Given the description of an element on the screen output the (x, y) to click on. 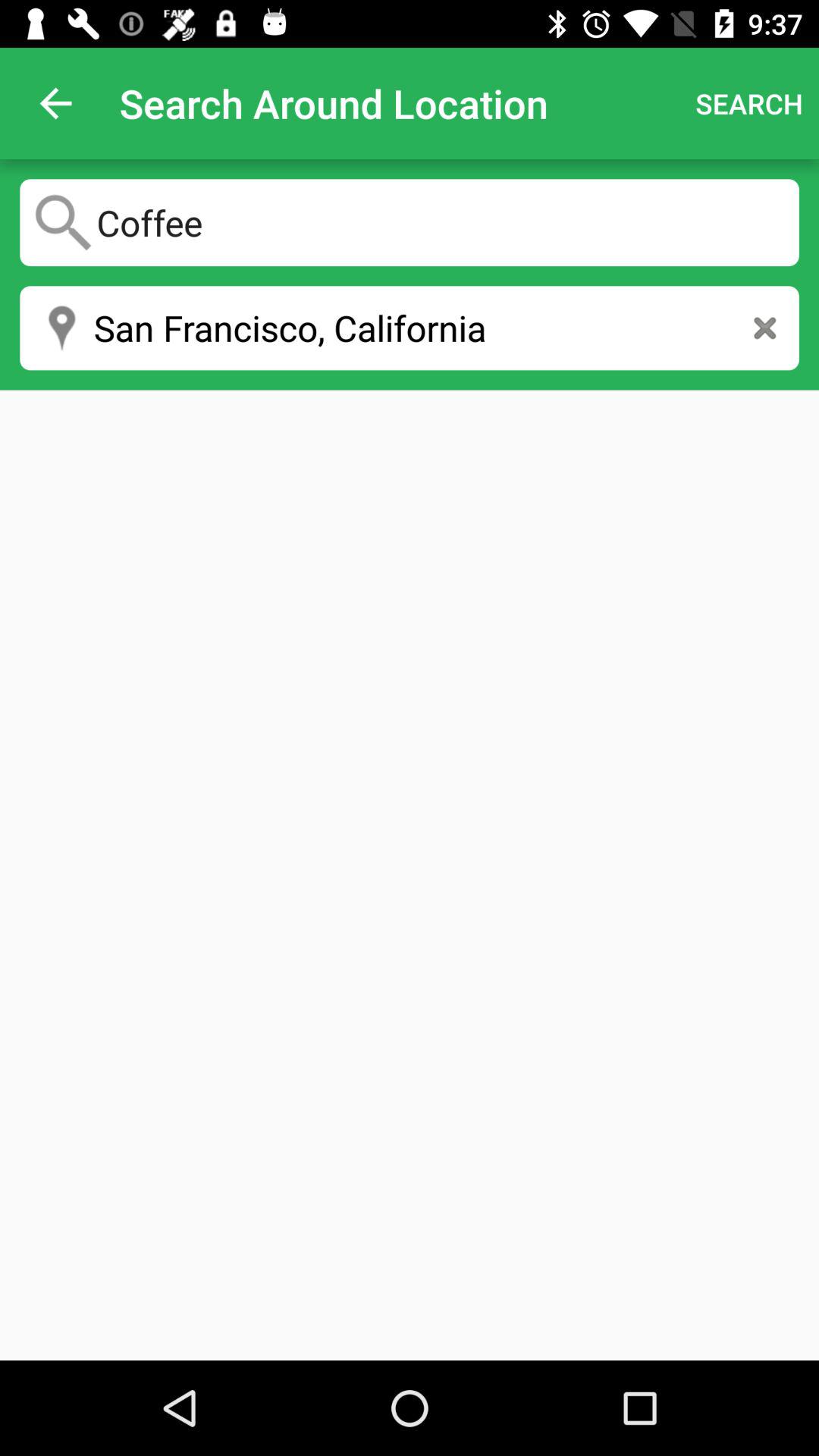
press item to the left of search around location item (55, 103)
